Given the description of an element on the screen output the (x, y) to click on. 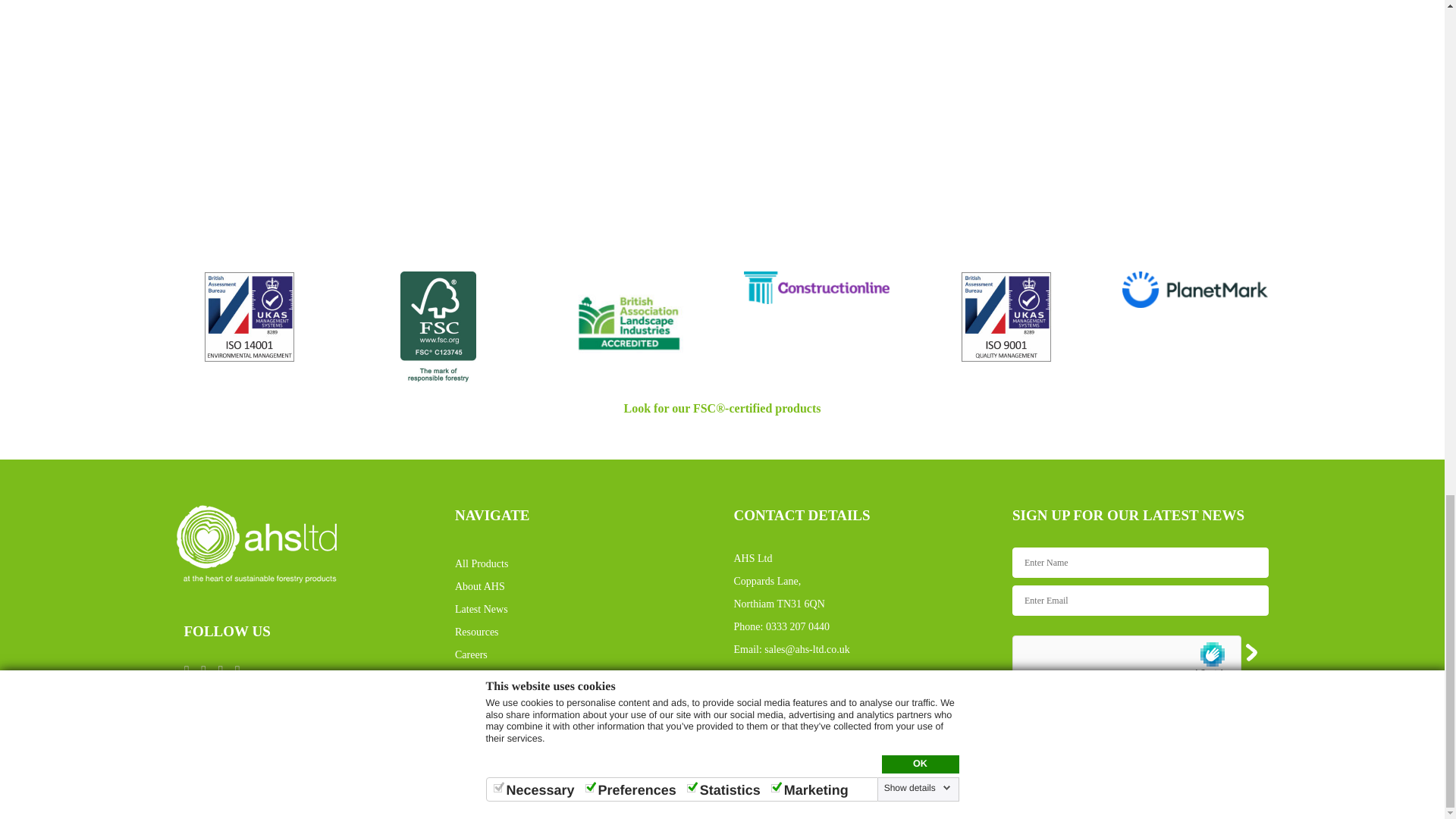
Submit (1181, 737)
